Given the description of an element on the screen output the (x, y) to click on. 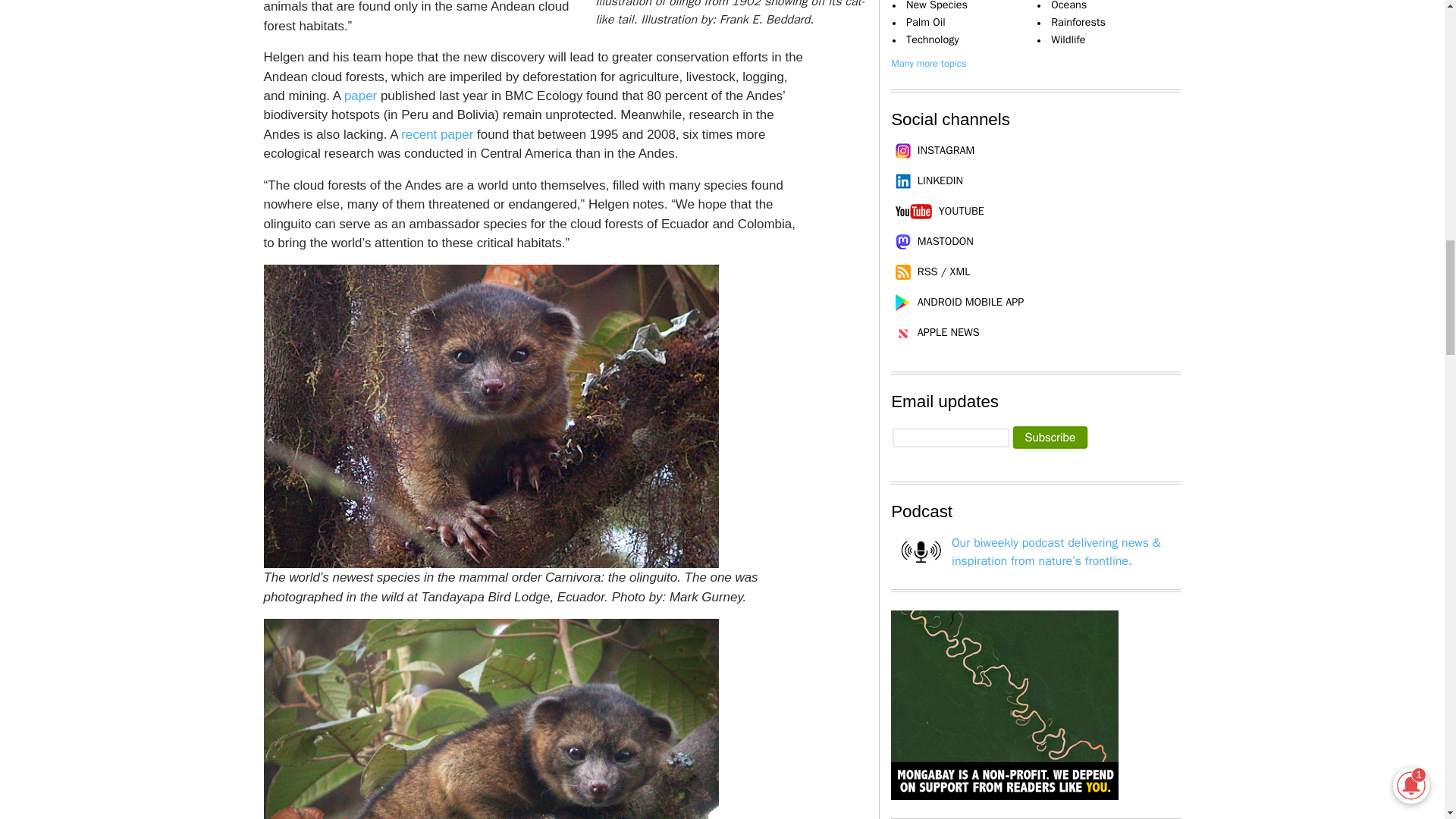
paper (360, 95)
recent paper (437, 134)
